Given the description of an element on the screen output the (x, y) to click on. 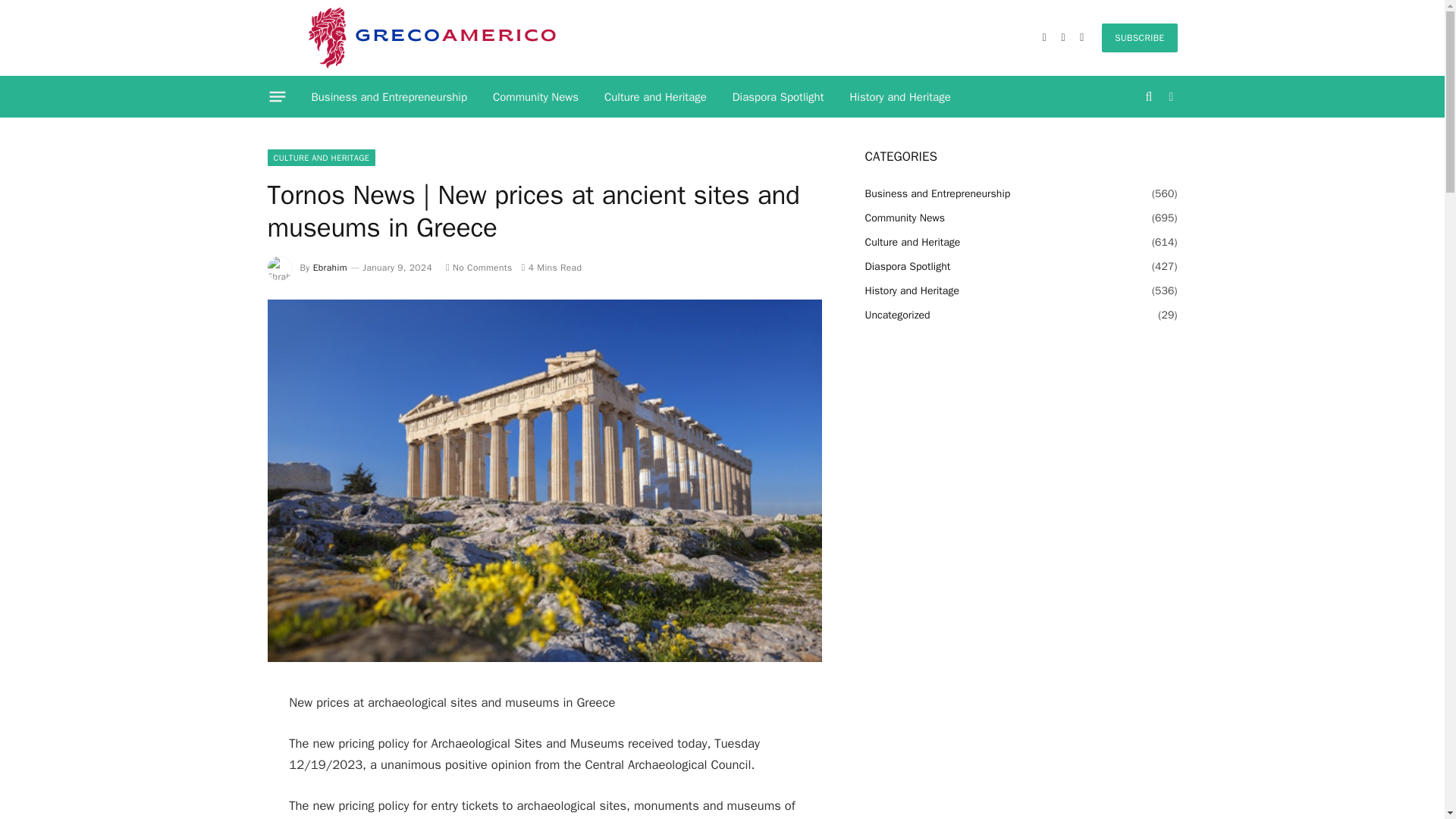
Greco Americo (431, 38)
No Comments (478, 267)
Community News (535, 96)
Diaspora Spotlight (778, 96)
SUBSCRIBE (1139, 37)
Switch to Dark Design - easier on eyes. (1168, 96)
Business and Entrepreneurship (389, 96)
CULTURE AND HERITAGE (320, 157)
Culture and Heritage (655, 96)
Posts by Ebrahim (330, 267)
